Given the description of an element on the screen output the (x, y) to click on. 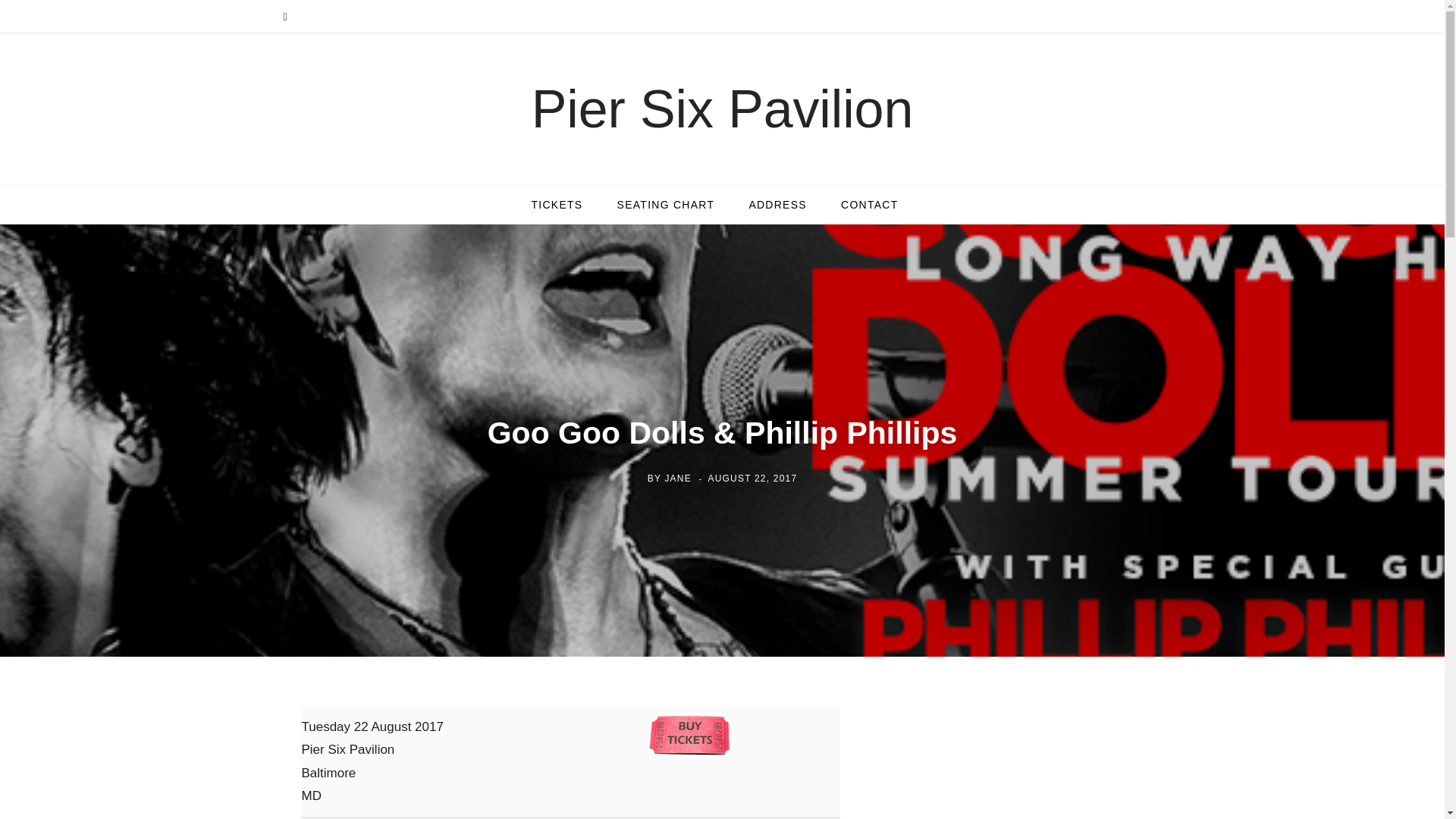
Advertisement (1037, 765)
MECU Pavilion Address (777, 204)
Pier Six Pavilion (721, 108)
Pier Six Pavilion (721, 108)
MECU Pavilion Tickets (555, 204)
ADDRESS (777, 204)
TICKETS (555, 204)
MECU Pavilion Contact (868, 204)
MECU Pavilion Seating Chart (666, 204)
Posts by Jane (676, 479)
JANE (676, 479)
SEATING CHART (666, 204)
CONTACT (868, 204)
